Given the description of an element on the screen output the (x, y) to click on. 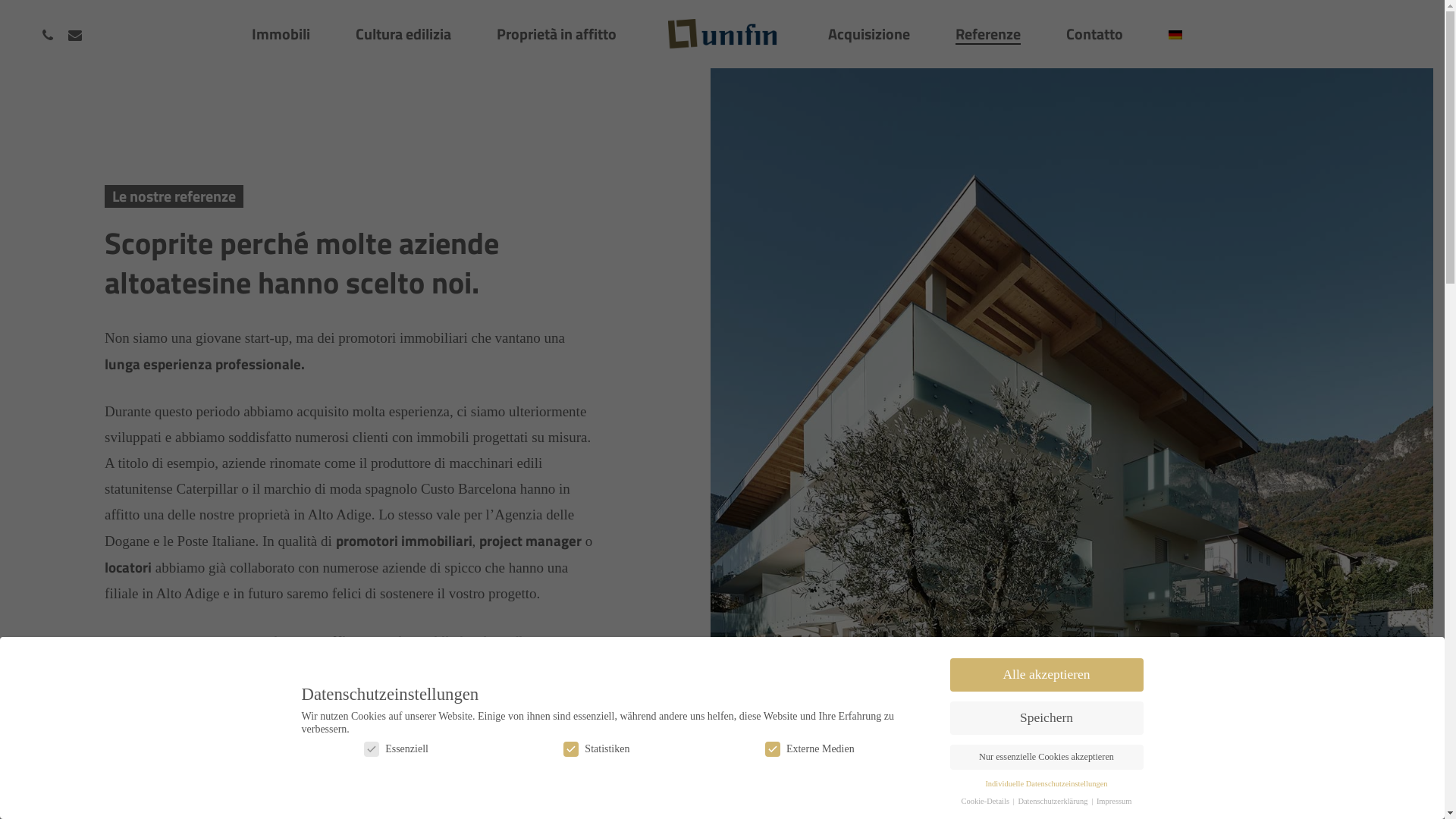
Referenze Element type: text (987, 33)
Acquisizione Element type: text (869, 33)
Alle akzeptieren Element type: text (1045, 674)
Impressum Element type: text (1114, 801)
Cookie-Details Element type: text (985, 801)
Individuelle Datenschutzeinstellungen Element type: text (1046, 783)
Cultura edilizia Element type: text (402, 33)
Nur essenzielle Cookies akzeptieren Element type: text (1045, 757)
Speichern Element type: text (1045, 717)
Contatto Element type: text (1094, 33)
CONTATTATECI ORA Element type: text (203, 779)
Immobili Element type: text (280, 33)
